Given the description of an element on the screen output the (x, y) to click on. 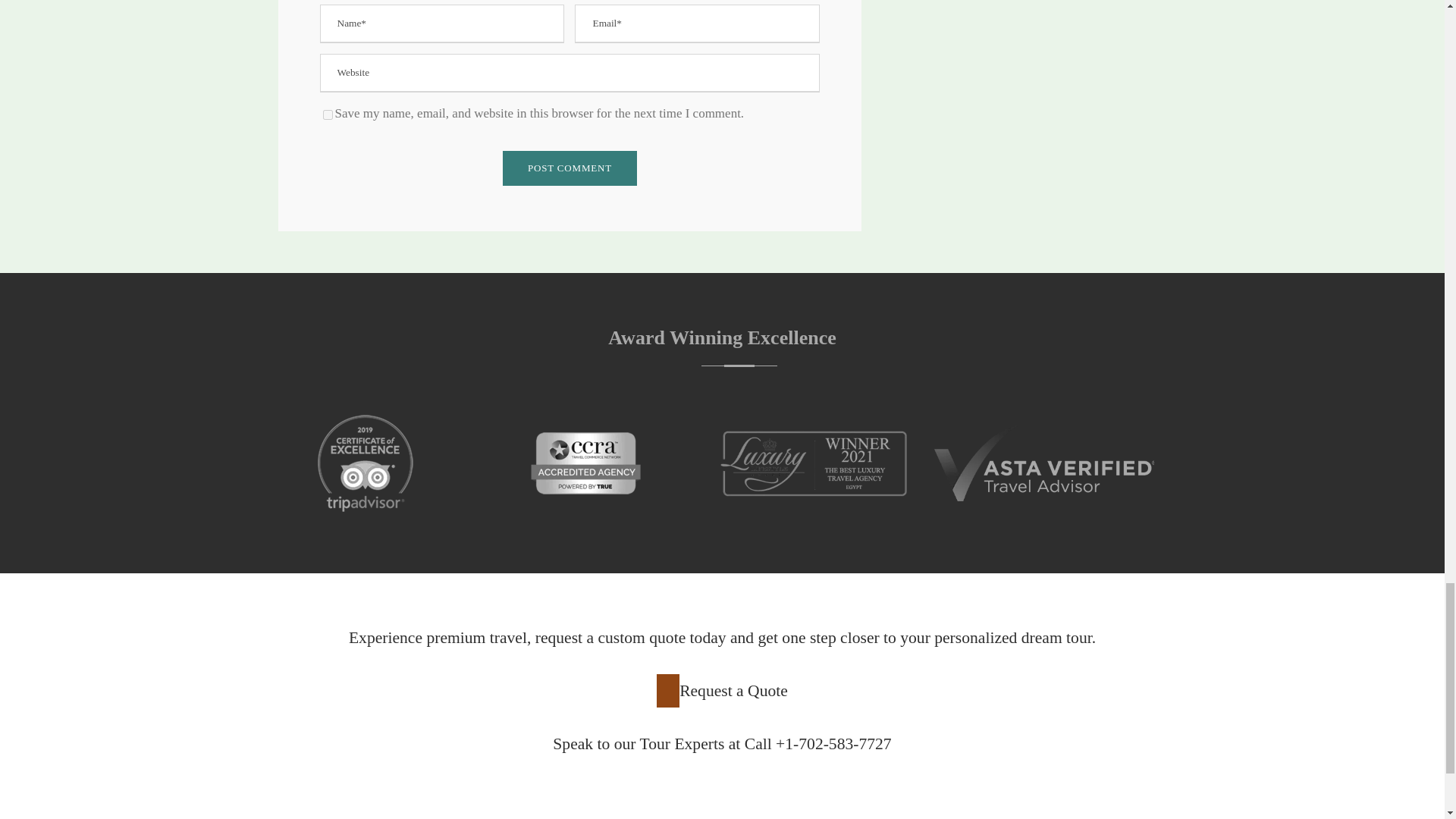
yes (328, 114)
Post Comment (569, 167)
Post Comment (569, 167)
